Given the description of an element on the screen output the (x, y) to click on. 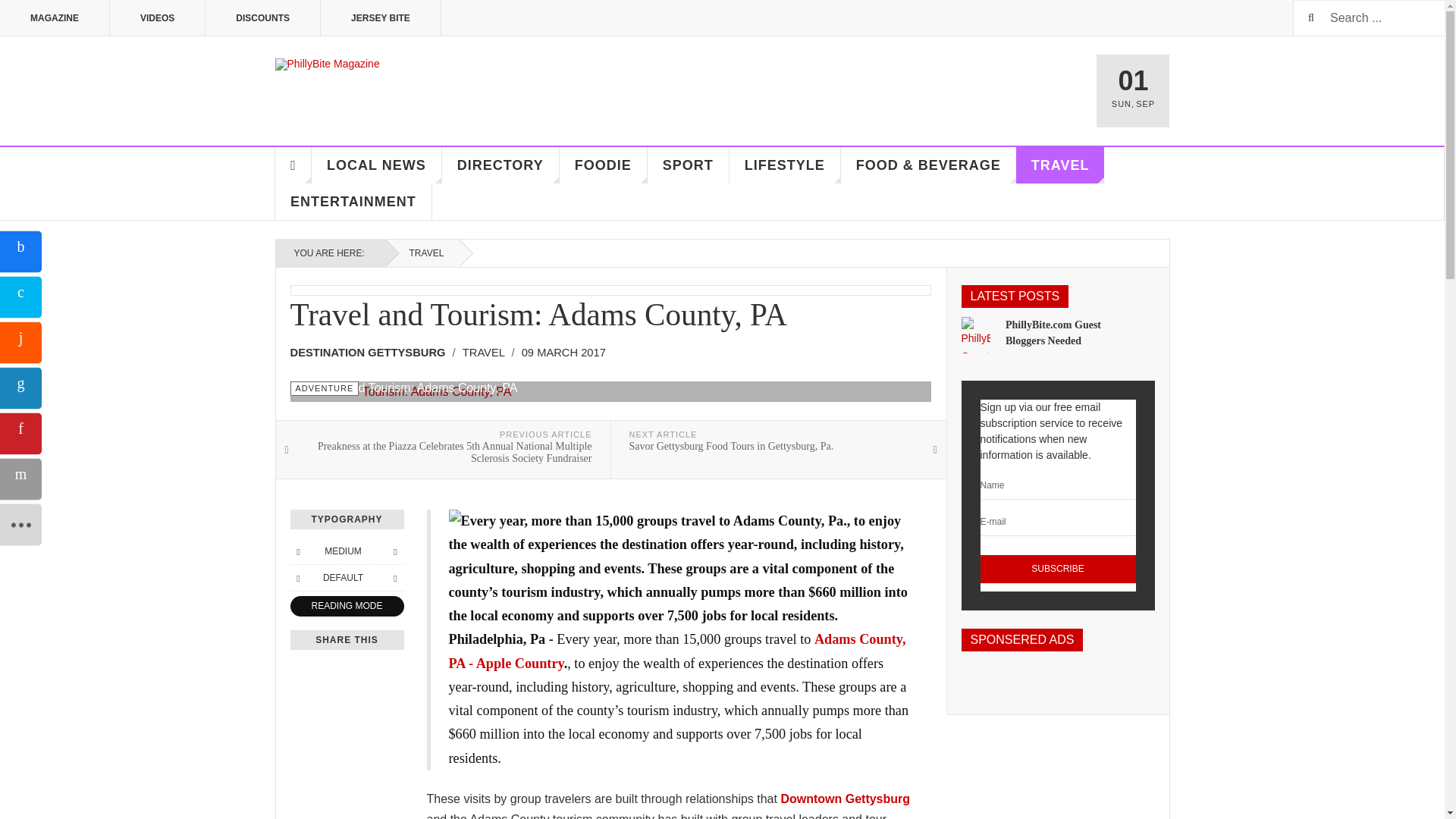
Previous Font Style (297, 577)
ENTERTAINMENT (353, 201)
Smaller Font (297, 550)
JERSEY BITE (380, 18)
SPORT (688, 165)
ADVENTURE (323, 388)
DIRECTORY (500, 165)
Reading Mode (346, 606)
Parent Category:  (489, 352)
Bigger Font (395, 550)
